Given the description of an element on the screen output the (x, y) to click on. 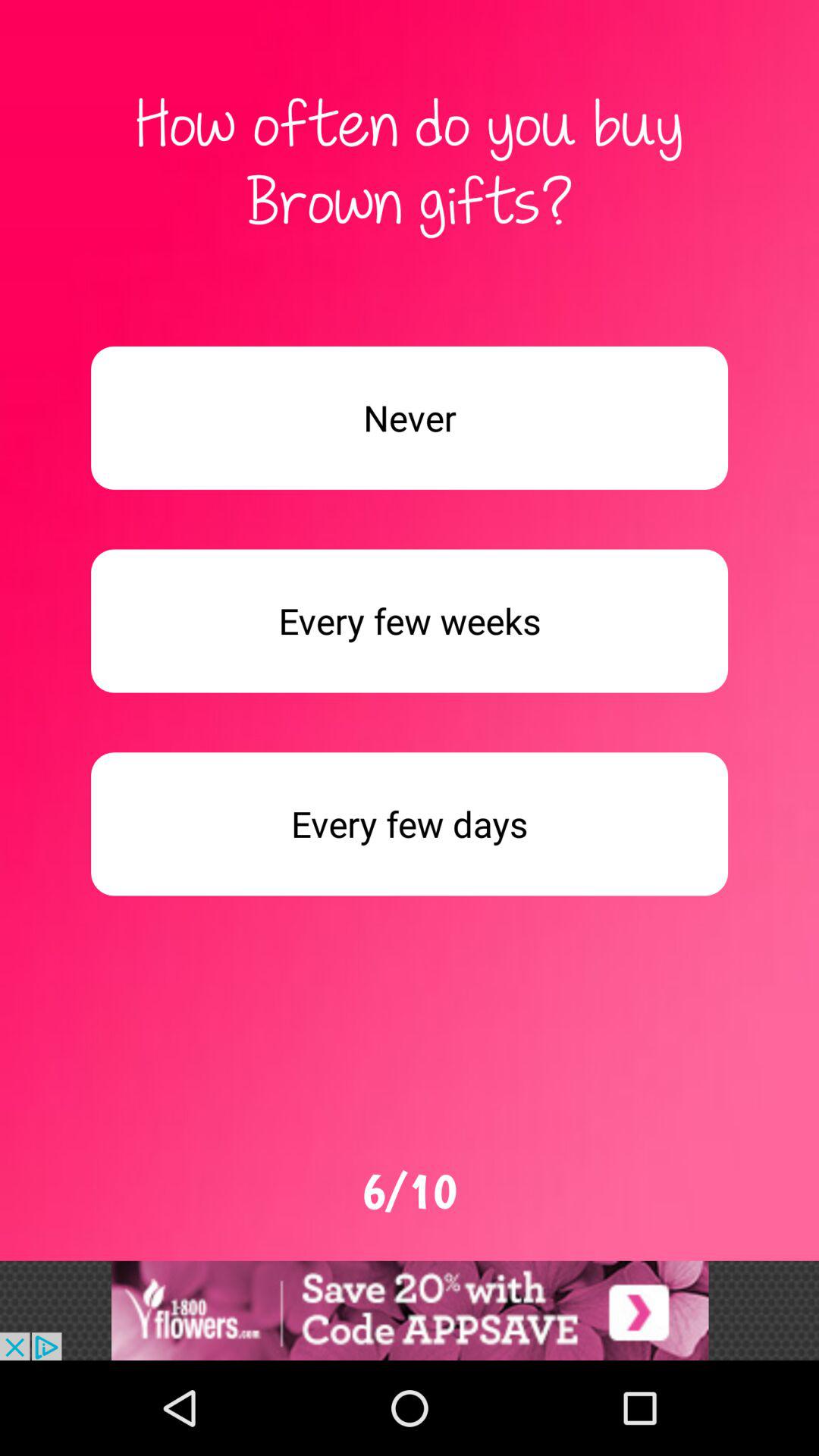
button every few weeks (409, 620)
